Given the description of an element on the screen output the (x, y) to click on. 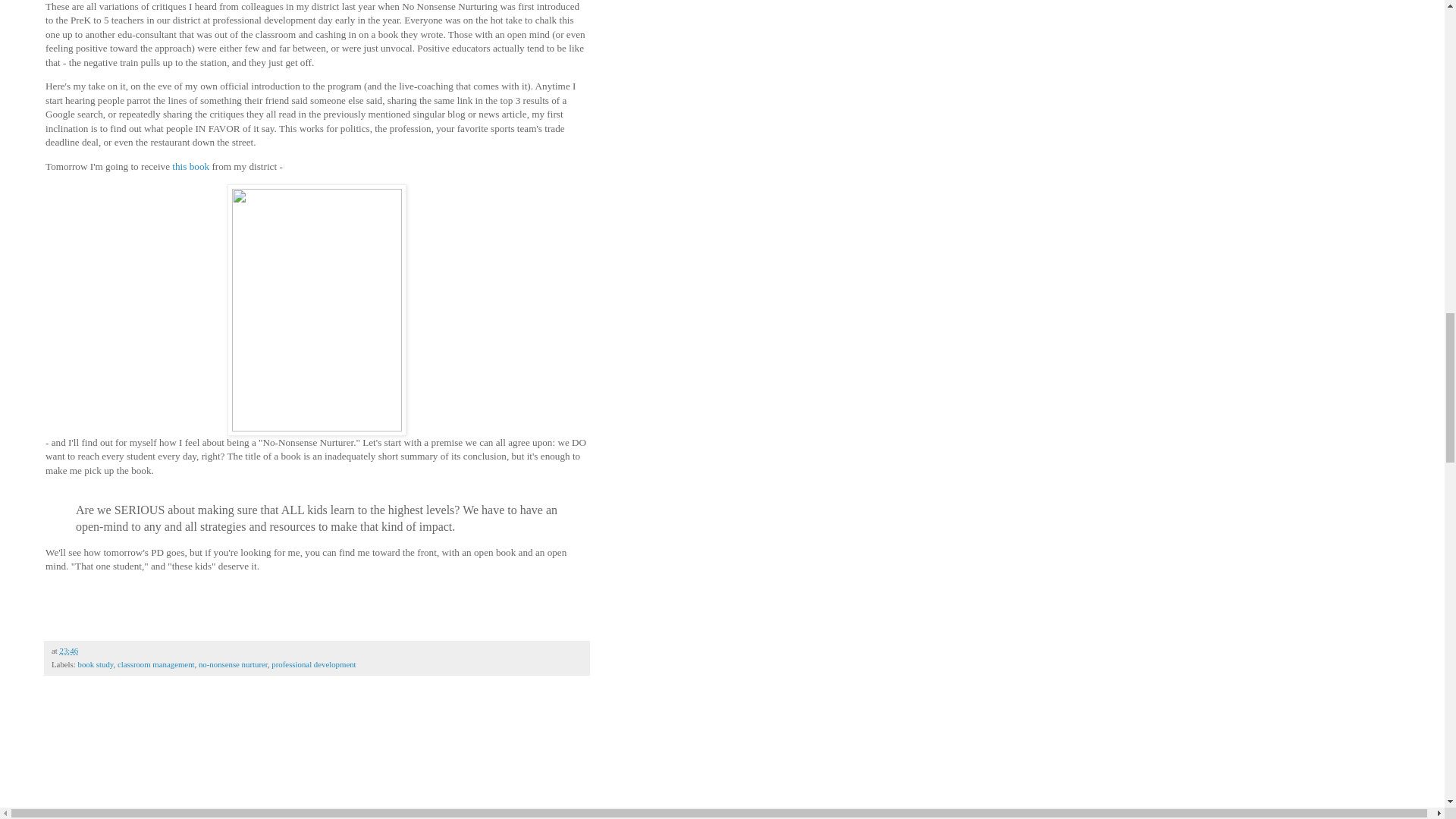
this book (190, 165)
permanent link (68, 650)
no-nonsense nurturer (232, 664)
book study (95, 664)
classroom management (156, 664)
23:46 (68, 650)
professional development (312, 664)
Advertisement (159, 764)
